Given the description of an element on the screen output the (x, y) to click on. 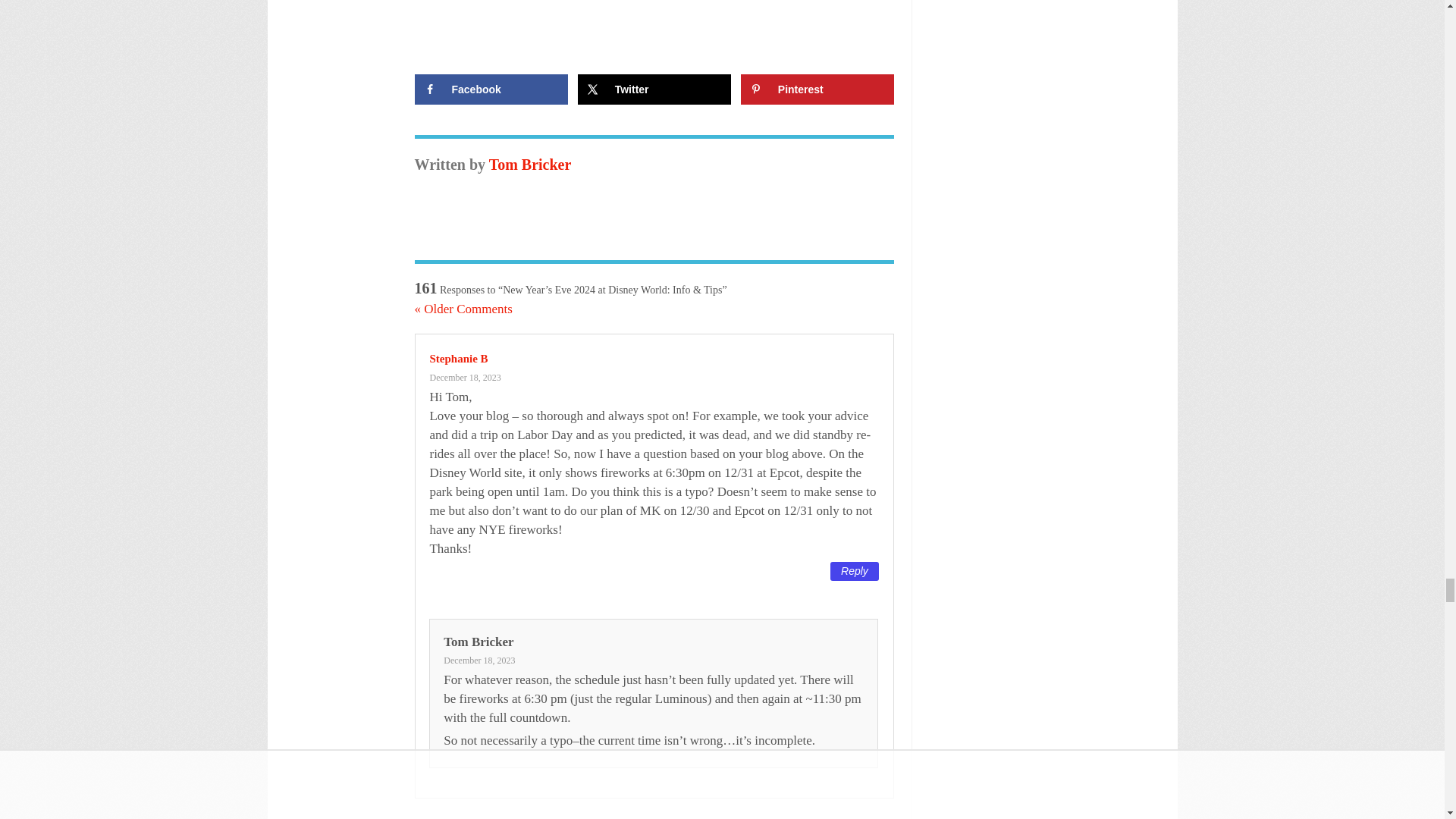
Share on X (655, 89)
Share on Facebook (490, 89)
Save to Pinterest (818, 89)
